Given the description of an element on the screen output the (x, y) to click on. 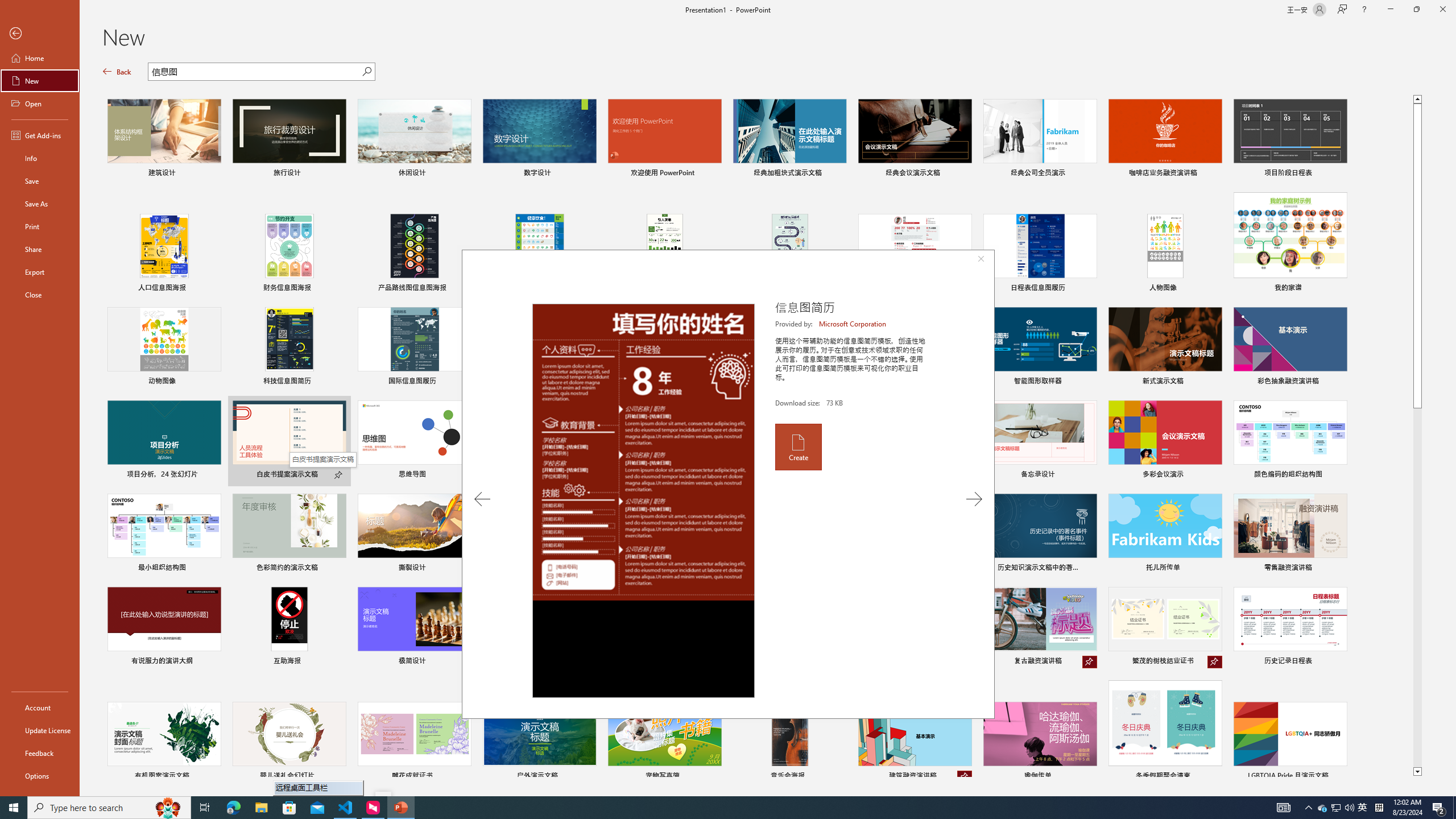
Save As (40, 203)
Previous Template (481, 499)
